Given the description of an element on the screen output the (x, y) to click on. 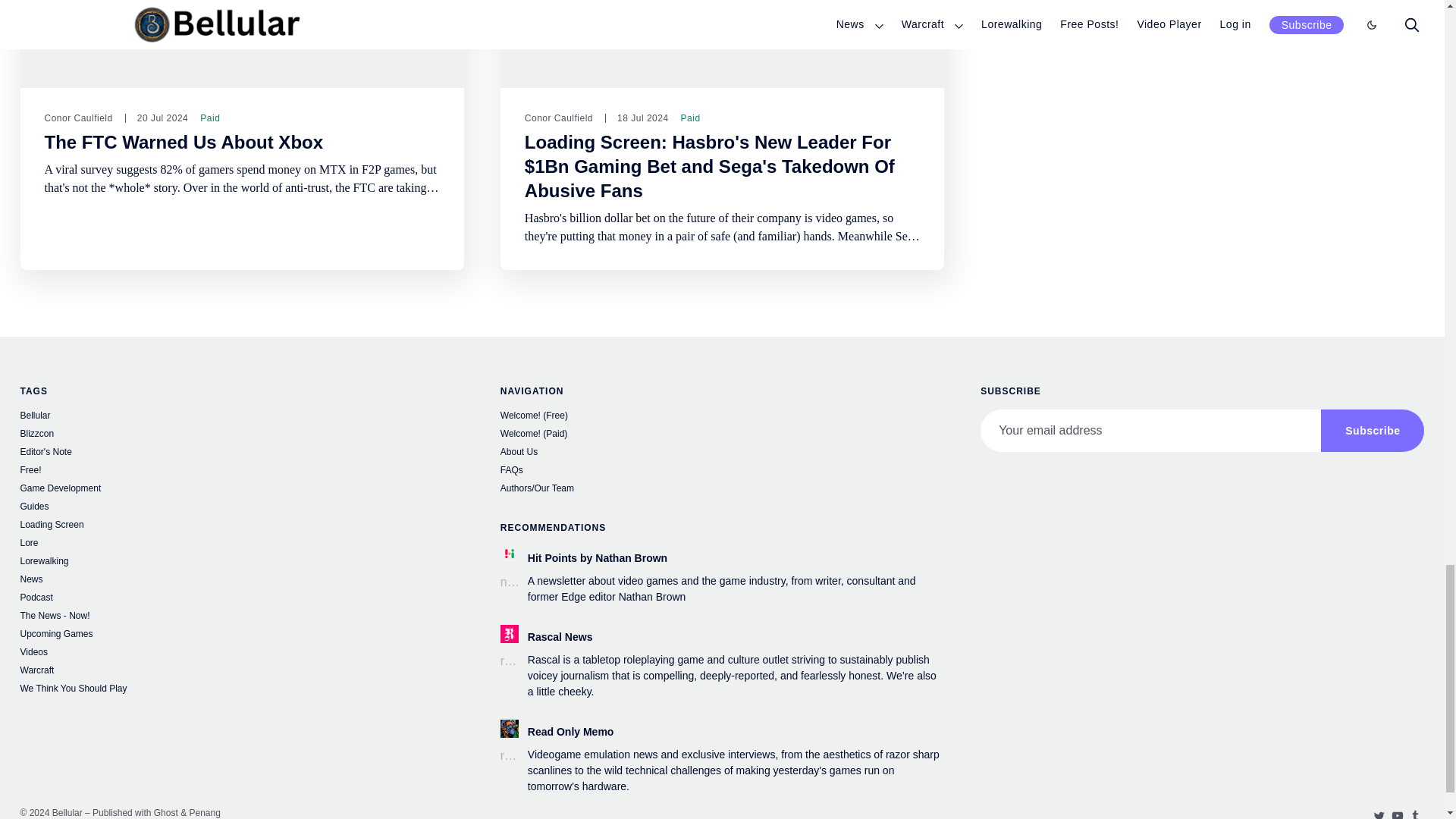
Conor Caulfield (558, 118)
Conor Caulfield (77, 118)
Bellular (241, 417)
Lorewalking (241, 562)
Free! (241, 471)
Blizzcon (241, 435)
Game Development (241, 489)
Guides (241, 507)
Lore (241, 544)
Editor's Note (241, 453)
Loading Screen (241, 525)
The FTC Warned Us About Xbox (183, 142)
